Given the description of an element on the screen output the (x, y) to click on. 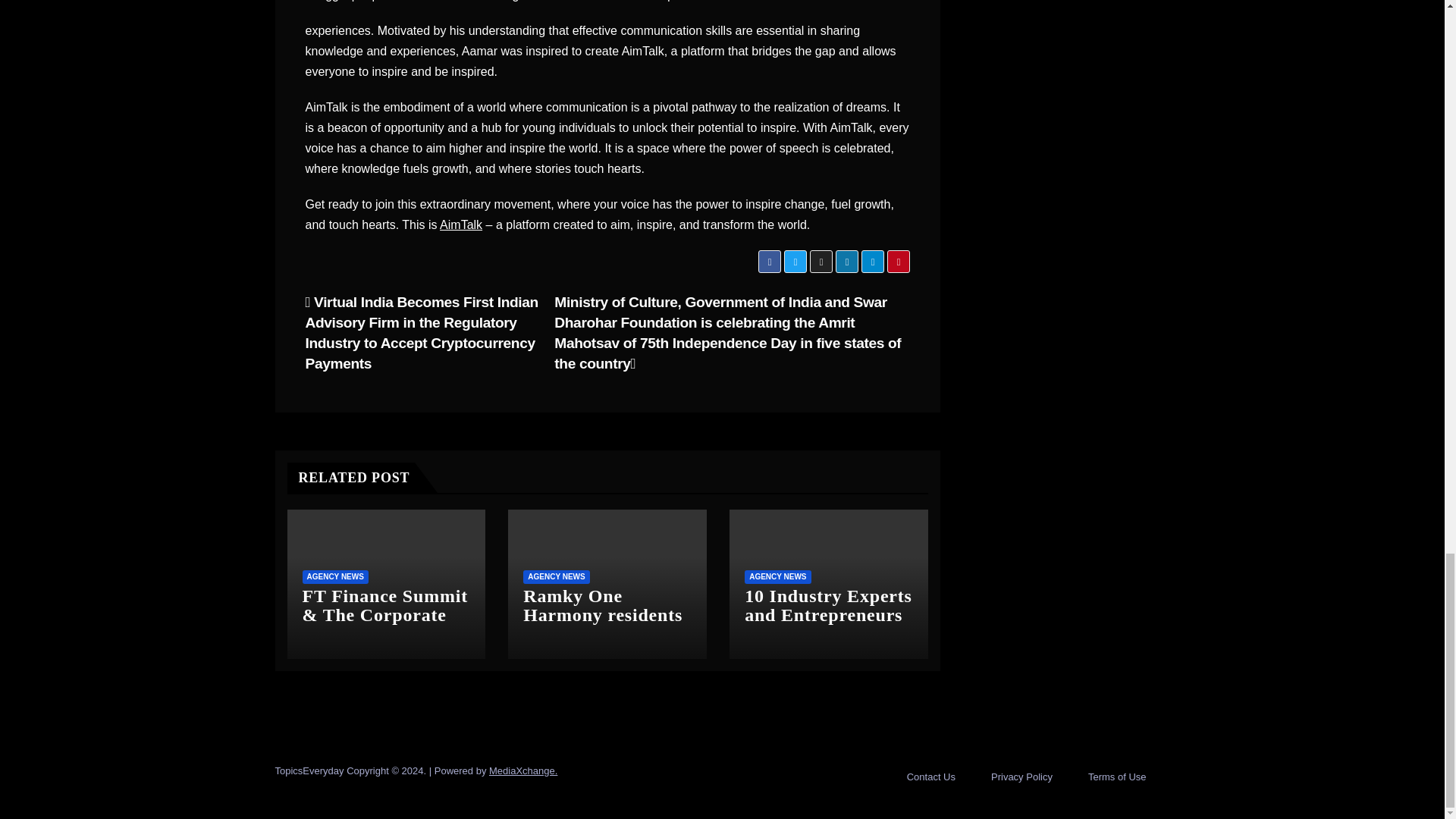
Contact Us (931, 776)
AimTalk (460, 224)
AGENCY NEWS (334, 576)
AGENCY NEWS (777, 576)
AGENCY NEWS (555, 576)
